Given the description of an element on the screen output the (x, y) to click on. 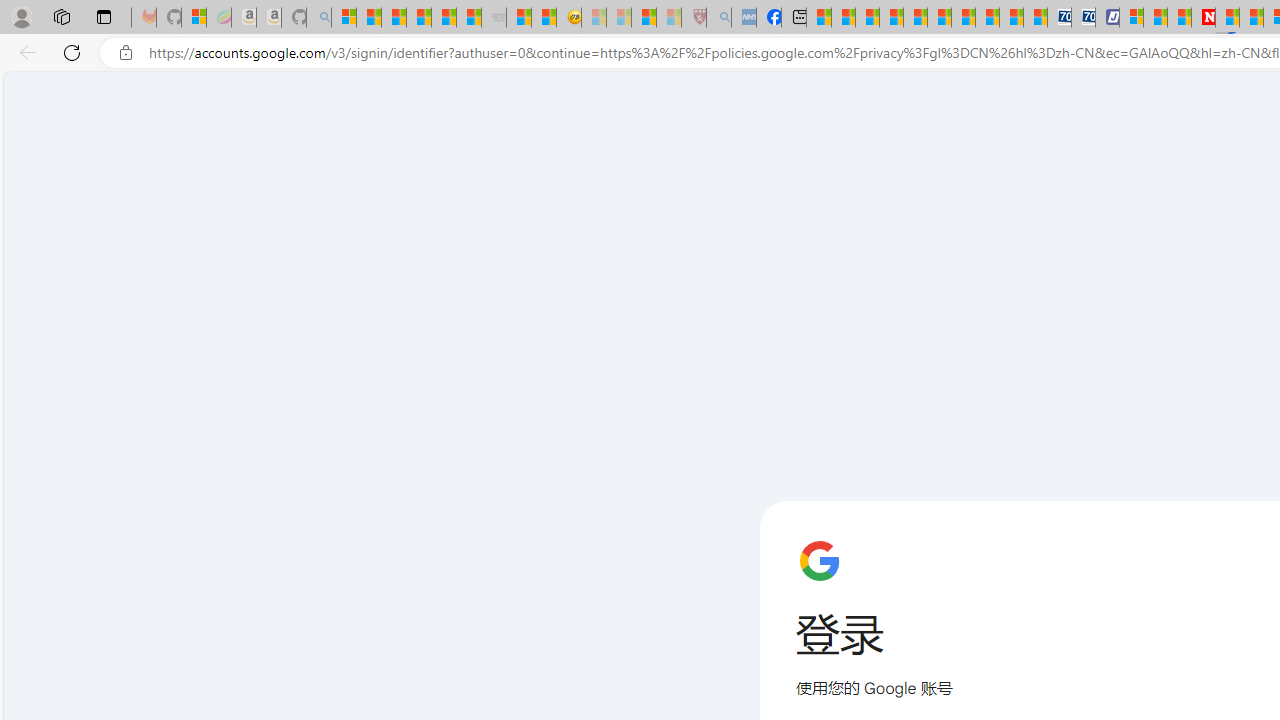
The Weather Channel - MSN (393, 17)
Climate Damage Becomes Too Severe To Reverse (890, 17)
Newsweek - News, Analysis, Politics, Business, Technology (1202, 17)
Combat Siege - Sleeping (493, 17)
